Given the description of an element on the screen output the (x, y) to click on. 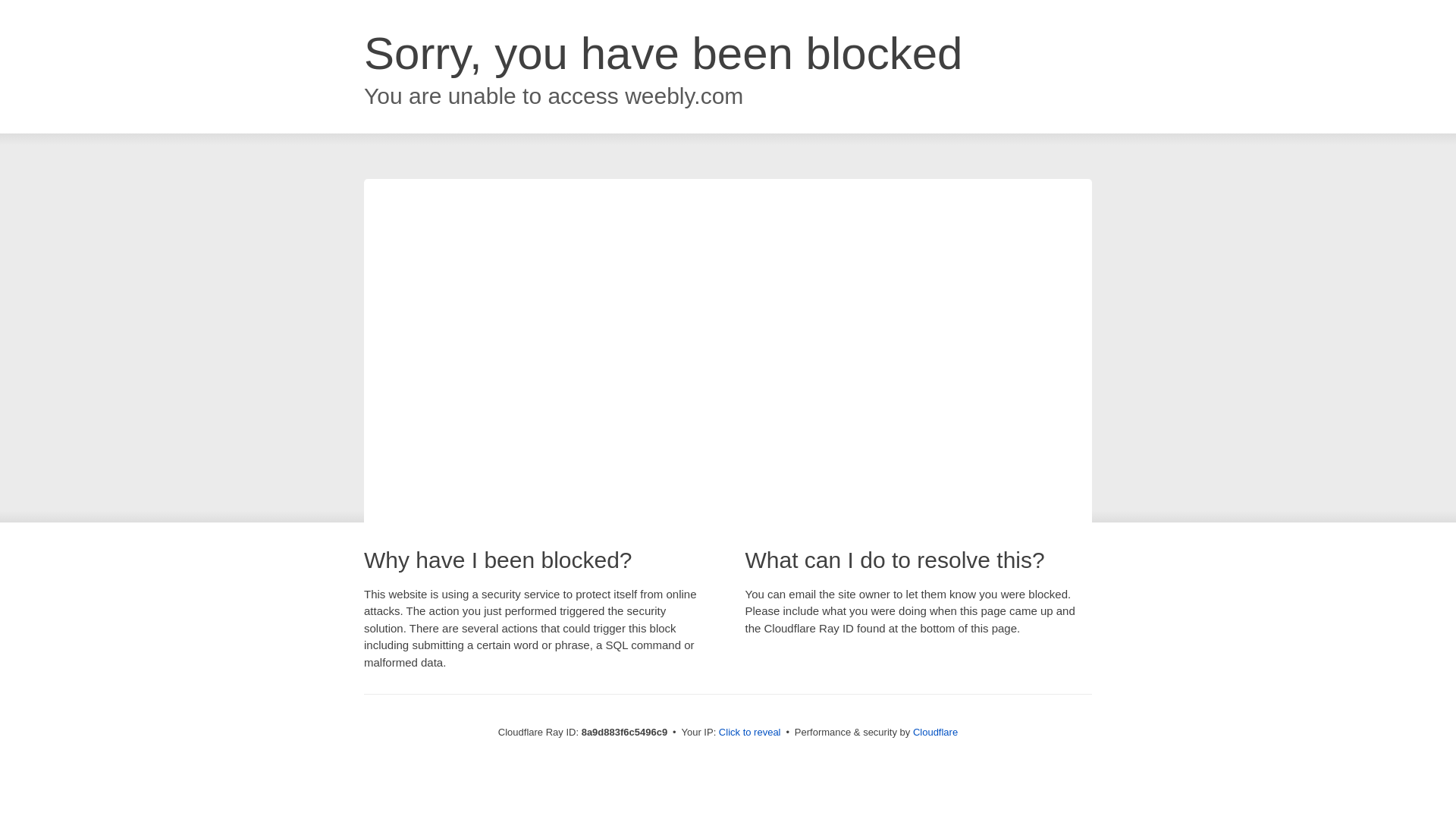
Click to reveal (749, 732)
Cloudflare (935, 731)
